Given the description of an element on the screen output the (x, y) to click on. 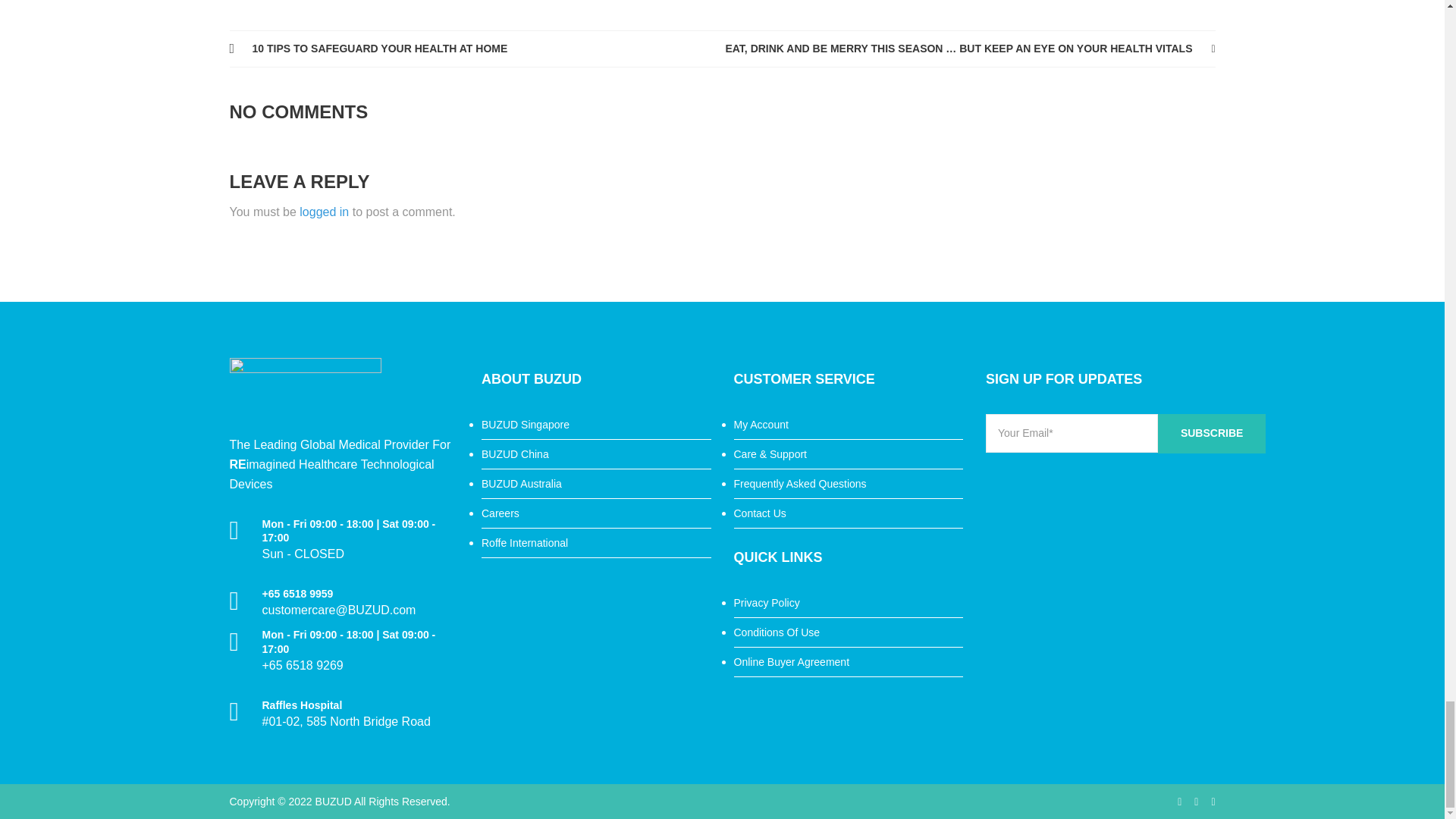
Subscribe (1211, 433)
